Given the description of an element on the screen output the (x, y) to click on. 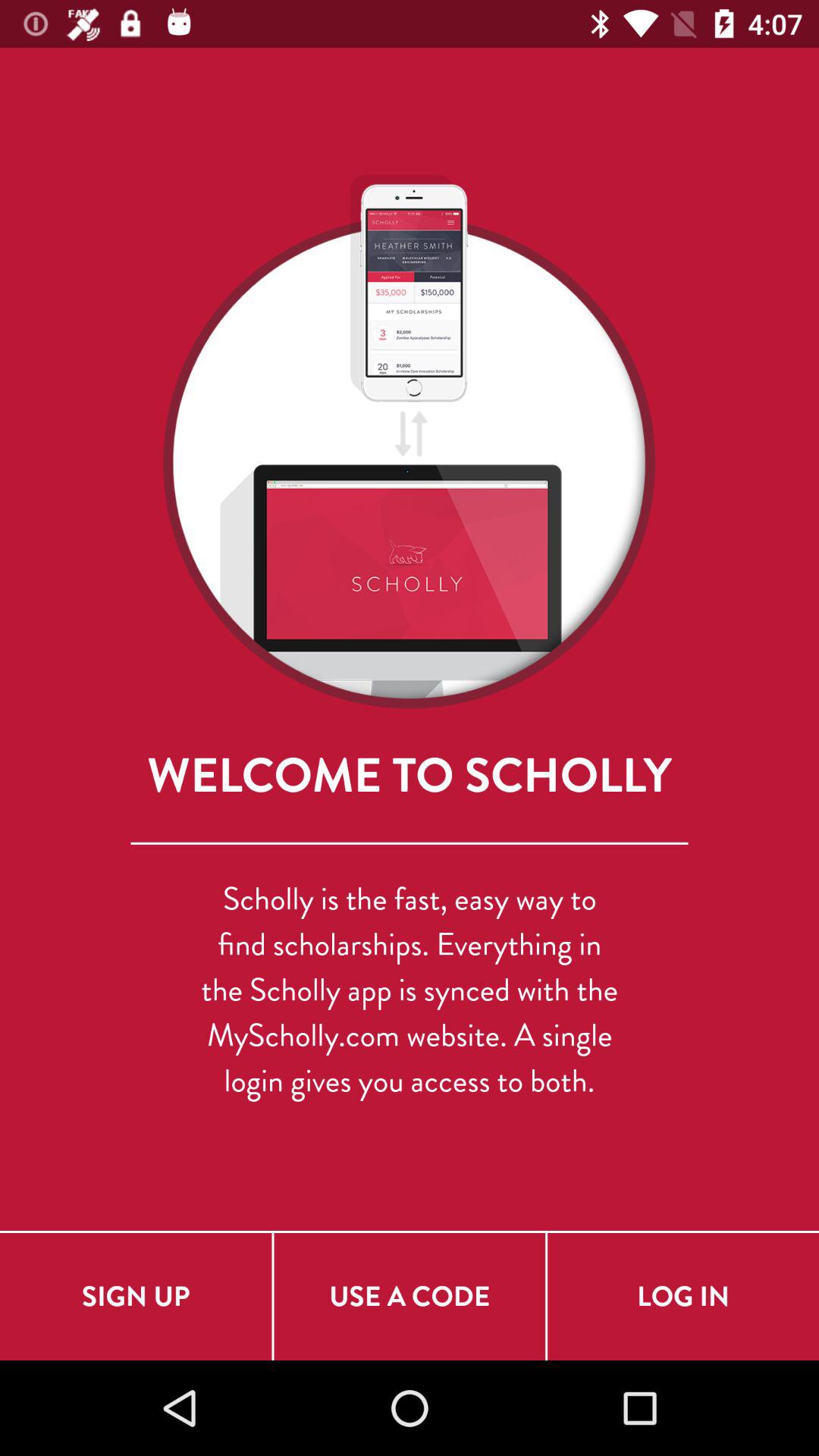
press the log in icon (683, 1296)
